Given the description of an element on the screen output the (x, y) to click on. 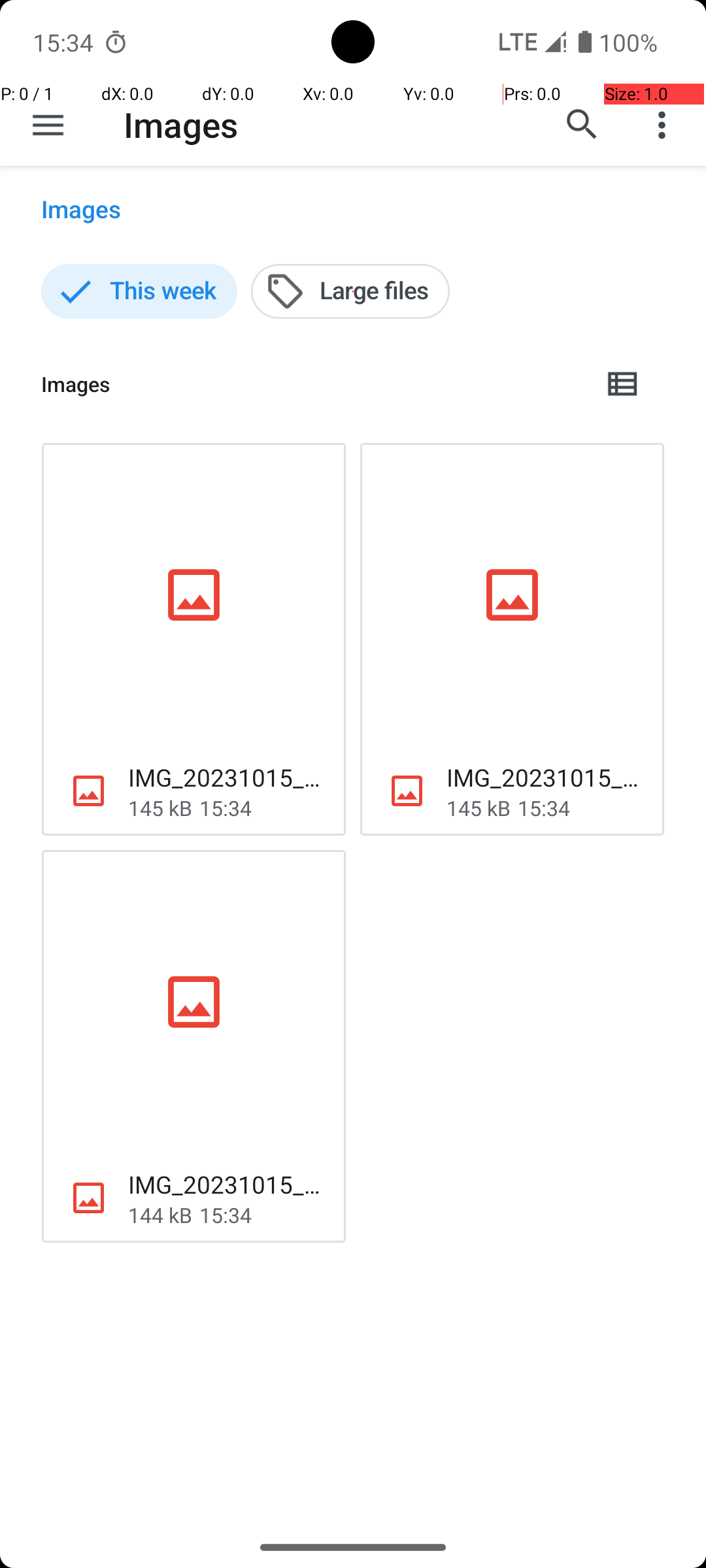
IMG_20231015_153457.jpg Element type: android.widget.TextView (226, 776)
145 kB Element type: android.widget.TextView (160, 807)
IMG_20231015_153427.jpg Element type: android.widget.TextView (544, 776)
IMG_20231015_153417.jpg Element type: android.widget.TextView (226, 1183)
144 kB Element type: android.widget.TextView (160, 1214)
